Given the description of an element on the screen output the (x, y) to click on. 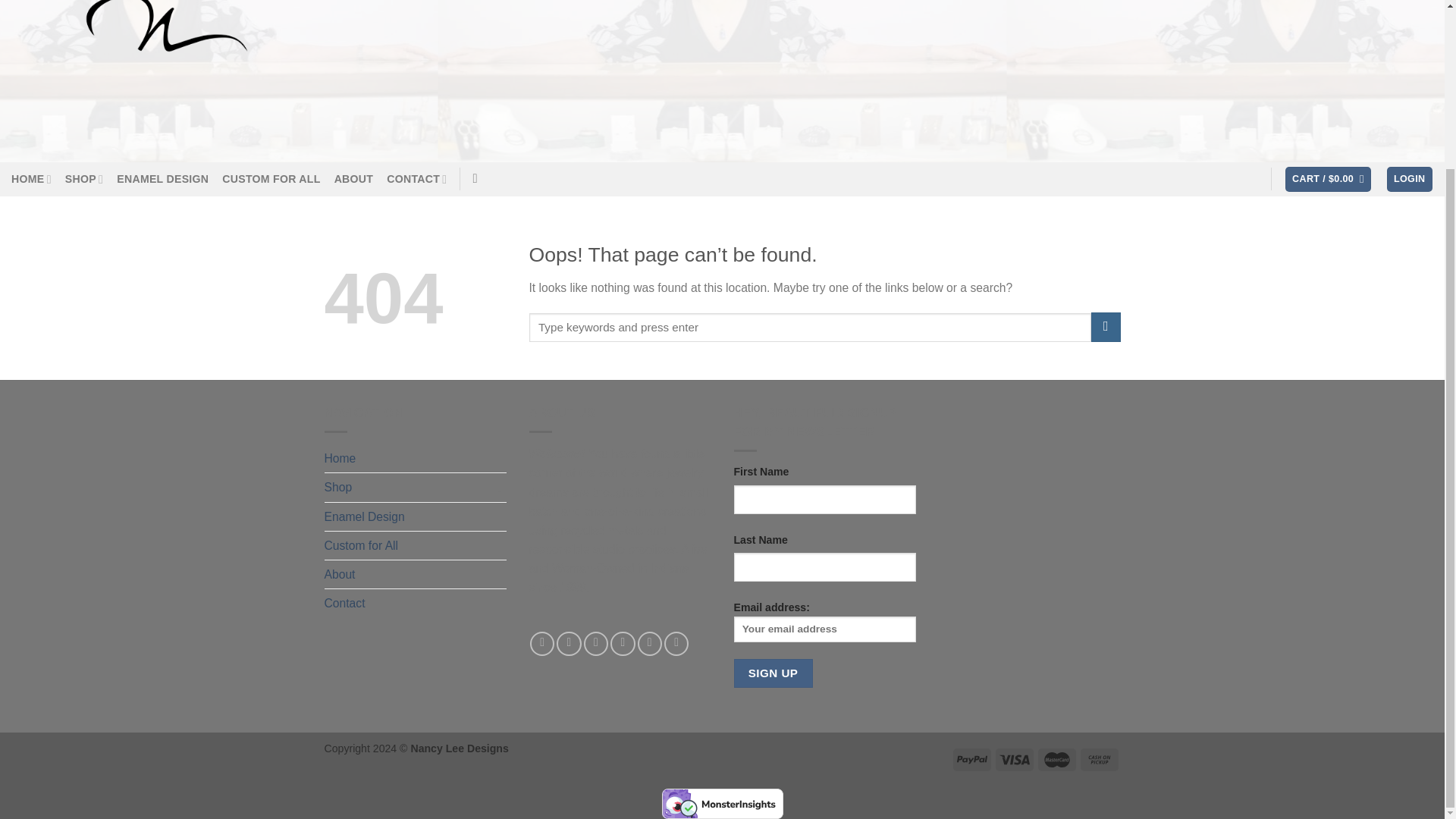
HOME (30, 179)
Home (408, 458)
ABOUT (354, 179)
CUSTOM FOR ALL (271, 179)
LOGIN (1409, 178)
Custom for All (361, 545)
Cart (1328, 178)
About (339, 574)
Sign up (772, 673)
Follow on Instagram (568, 643)
Follow on Pinterest (622, 643)
Follow on LinkedIn (649, 643)
Contact (408, 602)
Login (1409, 178)
